Given the description of an element on the screen output the (x, y) to click on. 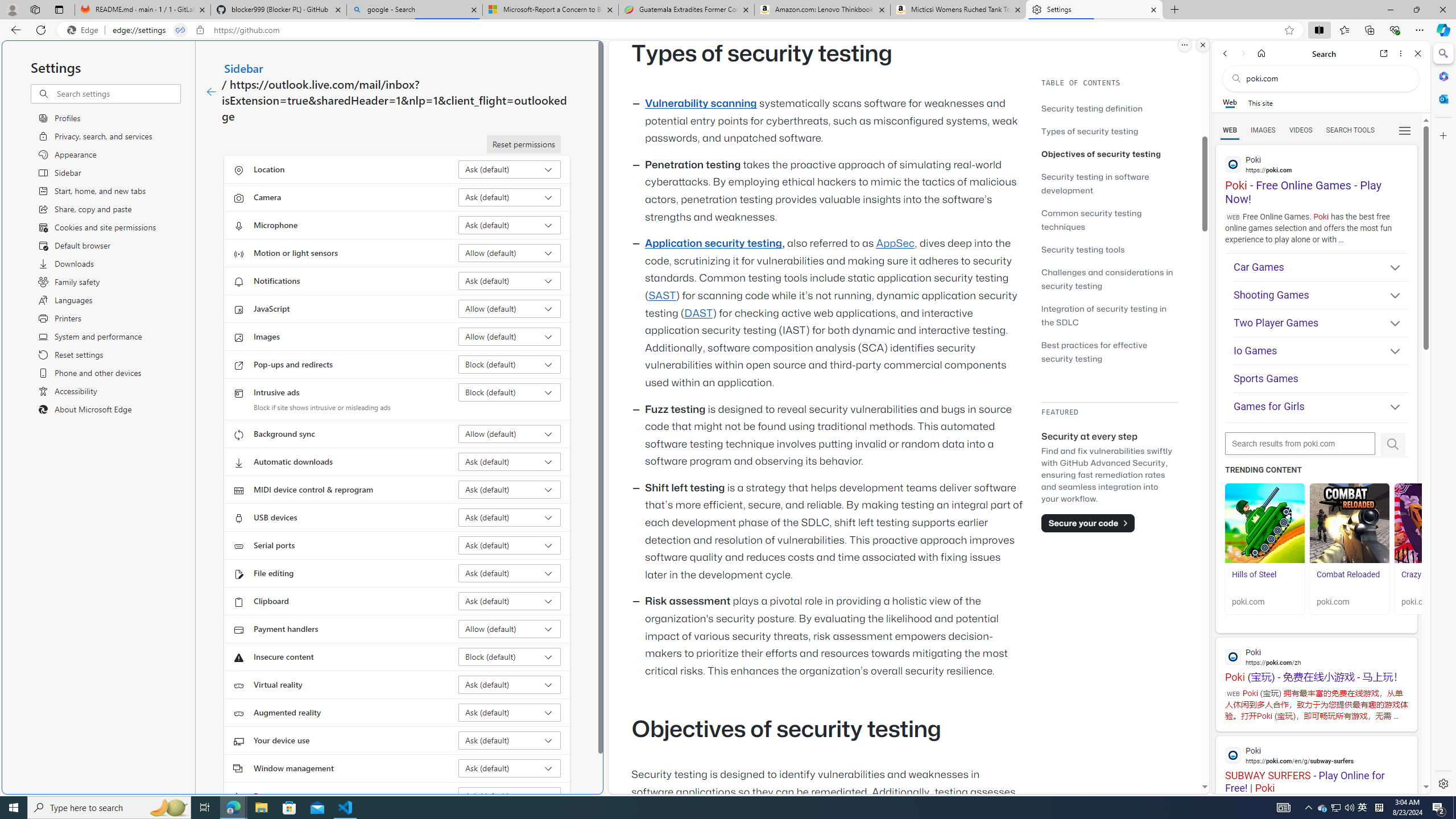
Car Games (1320, 267)
Integration of security testing in the SDLC (1109, 315)
SAST (661, 295)
Notifications Ask (default) (509, 280)
Sidebar (243, 67)
Common security testing techniques (1091, 219)
Edge (84, 29)
Challenges and considerations in security testing (1107, 278)
Clipboard Ask (default) (509, 601)
Integration of security testing in the SDLC (1104, 314)
